Given the description of an element on the screen output the (x, y) to click on. 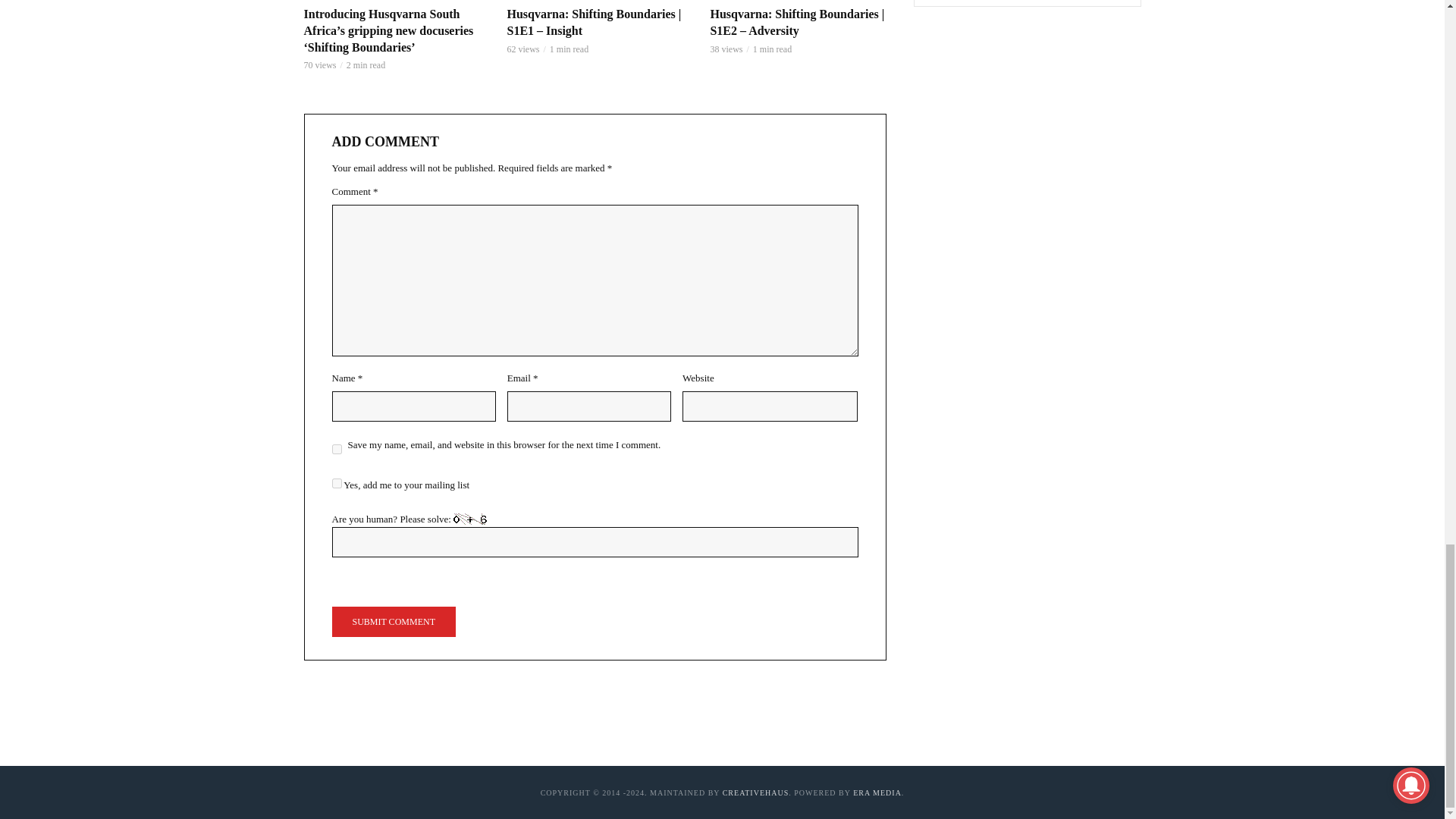
Submit Comment (393, 621)
1 (336, 482)
